Given the description of an element on the screen output the (x, y) to click on. 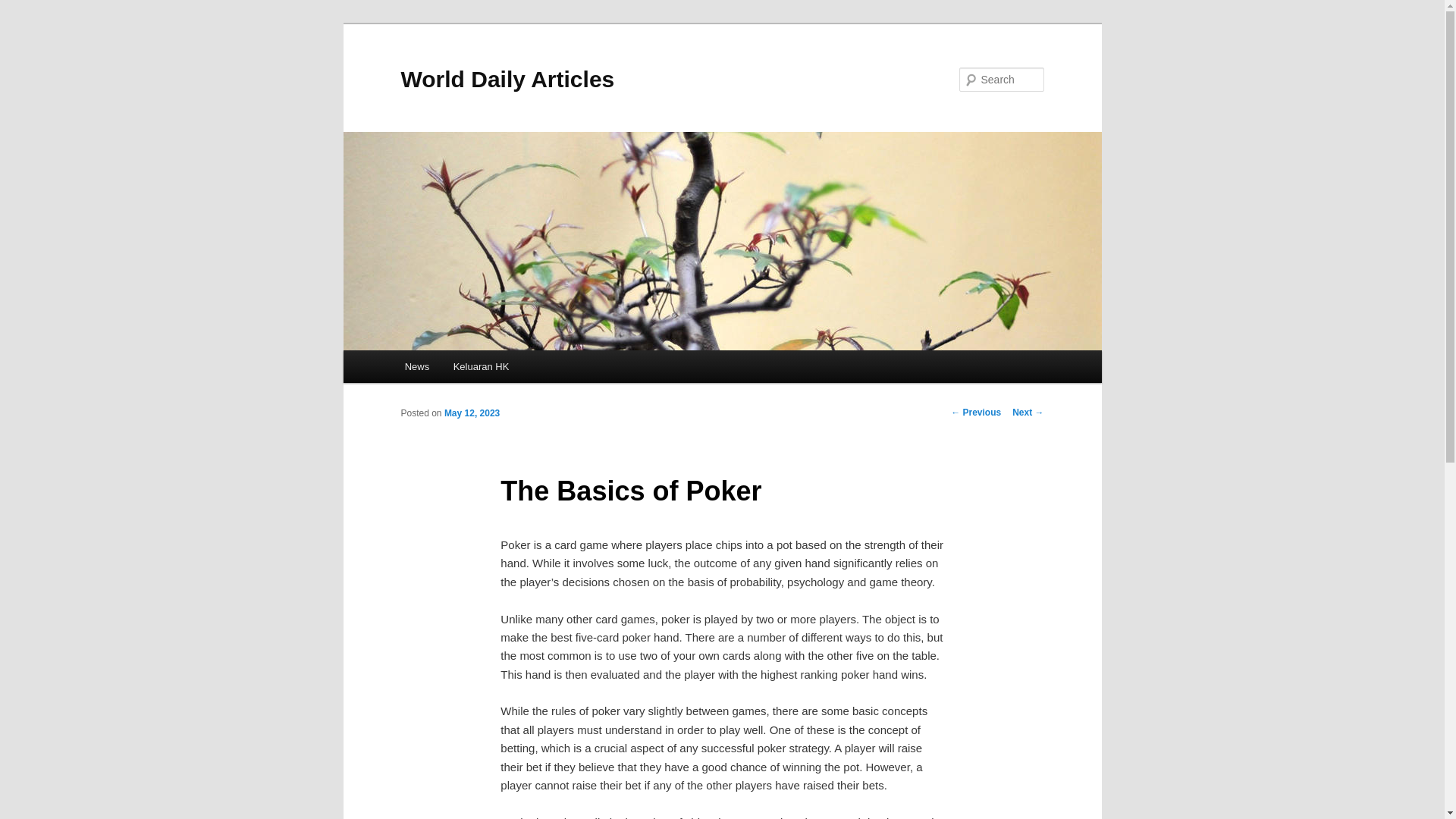
World Daily Articles (507, 78)
8:50 am (471, 412)
May 12, 2023 (471, 412)
Search (24, 8)
Keluaran HK (481, 366)
News (417, 366)
